Given the description of an element on the screen output the (x, y) to click on. 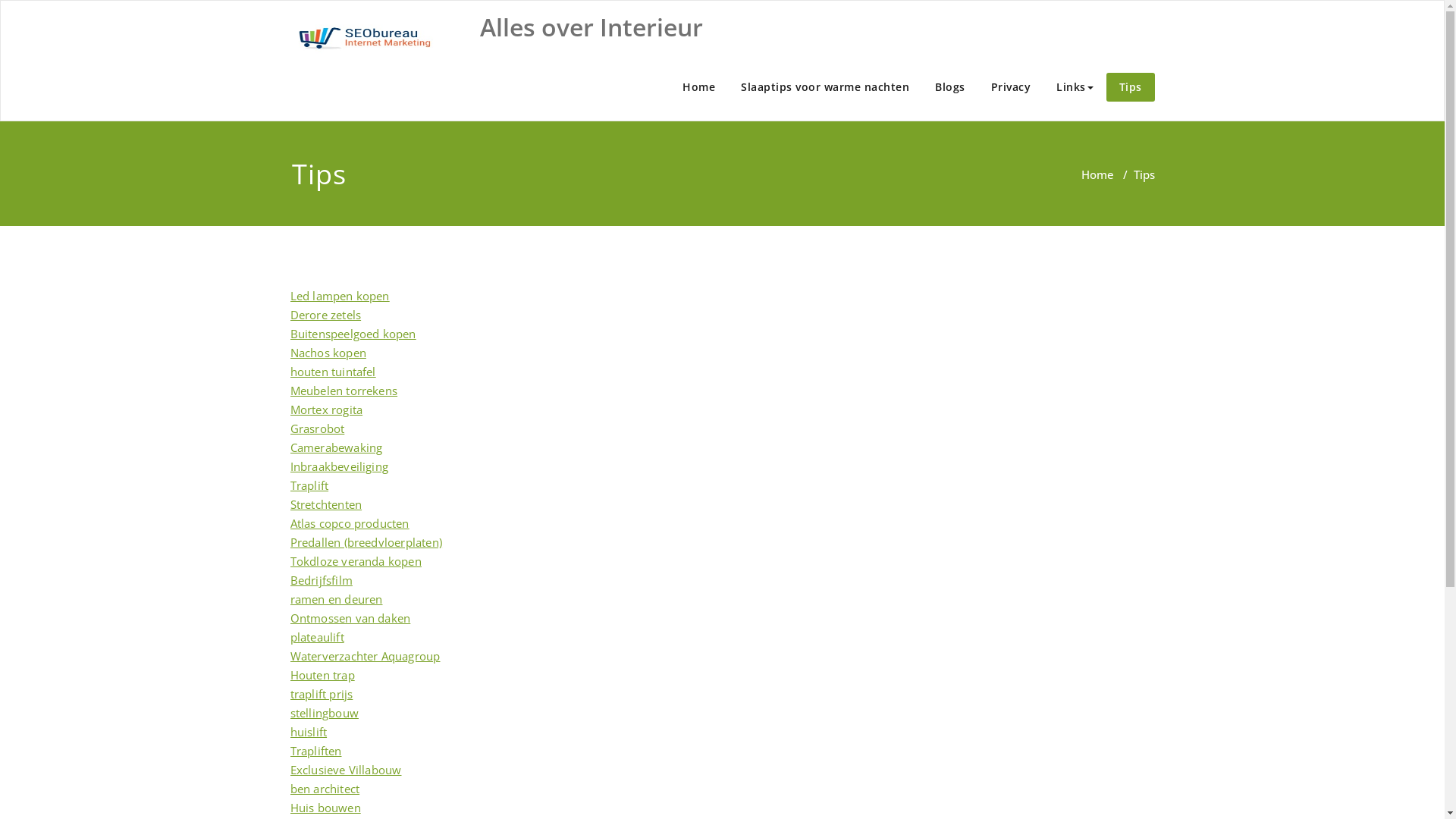
ben architect Element type: text (324, 788)
Buitenspeelgoed kopen Element type: text (352, 333)
Led lampen kopen Element type: text (339, 295)
Trapliften Element type: text (315, 750)
Privacy Element type: text (1011, 86)
Bedrijfsfilm Element type: text (320, 579)
Ontmossen van daken Element type: text (349, 617)
Camerabewaking Element type: text (335, 447)
Links Element type: text (1074, 86)
Predallen (breedvloerplaten) Element type: text (365, 541)
Meubelen torrekens Element type: text (343, 390)
Traplift Element type: text (308, 484)
Grasrobot Element type: text (316, 428)
Home Element type: text (698, 86)
Exclusieve Villabouw Element type: text (345, 769)
Huis bouwen Element type: text (324, 807)
Stretchtenten Element type: text (325, 503)
huislift Element type: text (307, 731)
Derore zetels Element type: text (324, 314)
Nachos kopen Element type: text (327, 352)
Tokdloze veranda kopen Element type: text (354, 560)
Inbraakbeveiliging Element type: text (338, 465)
Atlas copco producten Element type: text (348, 522)
Houten trap Element type: text (321, 674)
Home Element type: text (1097, 174)
Blogs Element type: text (950, 86)
Tips Element type: text (1129, 86)
stellingbouw Element type: text (323, 712)
ramen en deuren Element type: text (335, 598)
Mortex rogita Element type: text (325, 409)
Slaaptips voor warme nachten Element type: text (825, 86)
Alles over Interieur Element type: text (590, 27)
houten tuintafel Element type: text (332, 371)
Waterverzachter Aquagroup Element type: text (364, 655)
traplift prijs Element type: text (320, 693)
plateaulift Element type: text (316, 636)
